Given the description of an element on the screen output the (x, y) to click on. 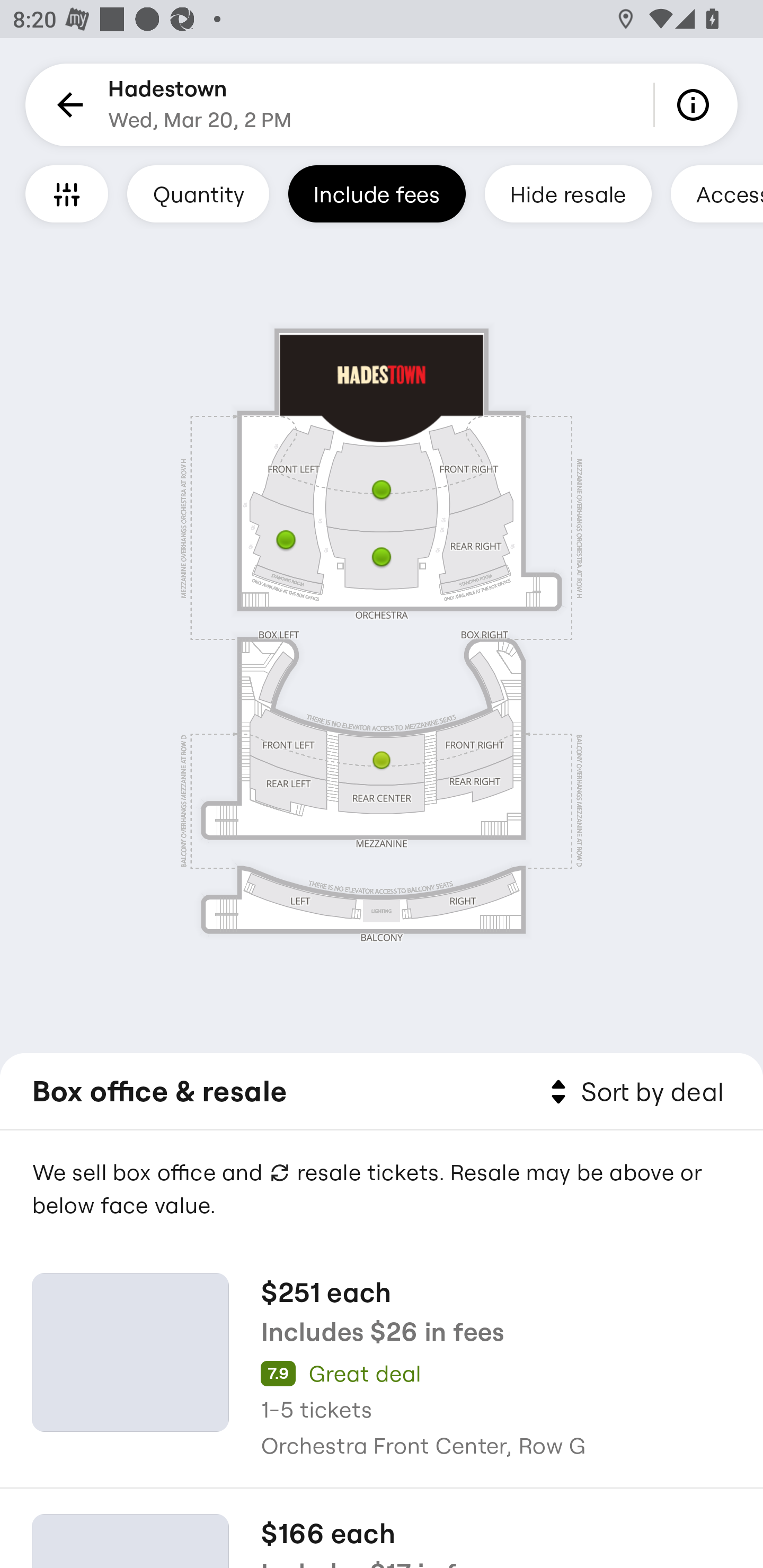
Back (66, 104)
Hadestown Wed, Mar 20, 2 PM (200, 104)
Info (695, 104)
Filters and Accessible Seating (66, 193)
Quantity (198, 193)
Include fees (376, 193)
Hide resale (567, 193)
Access code (716, 193)
Sort by deal (633, 1091)
